Given the description of an element on the screen output the (x, y) to click on. 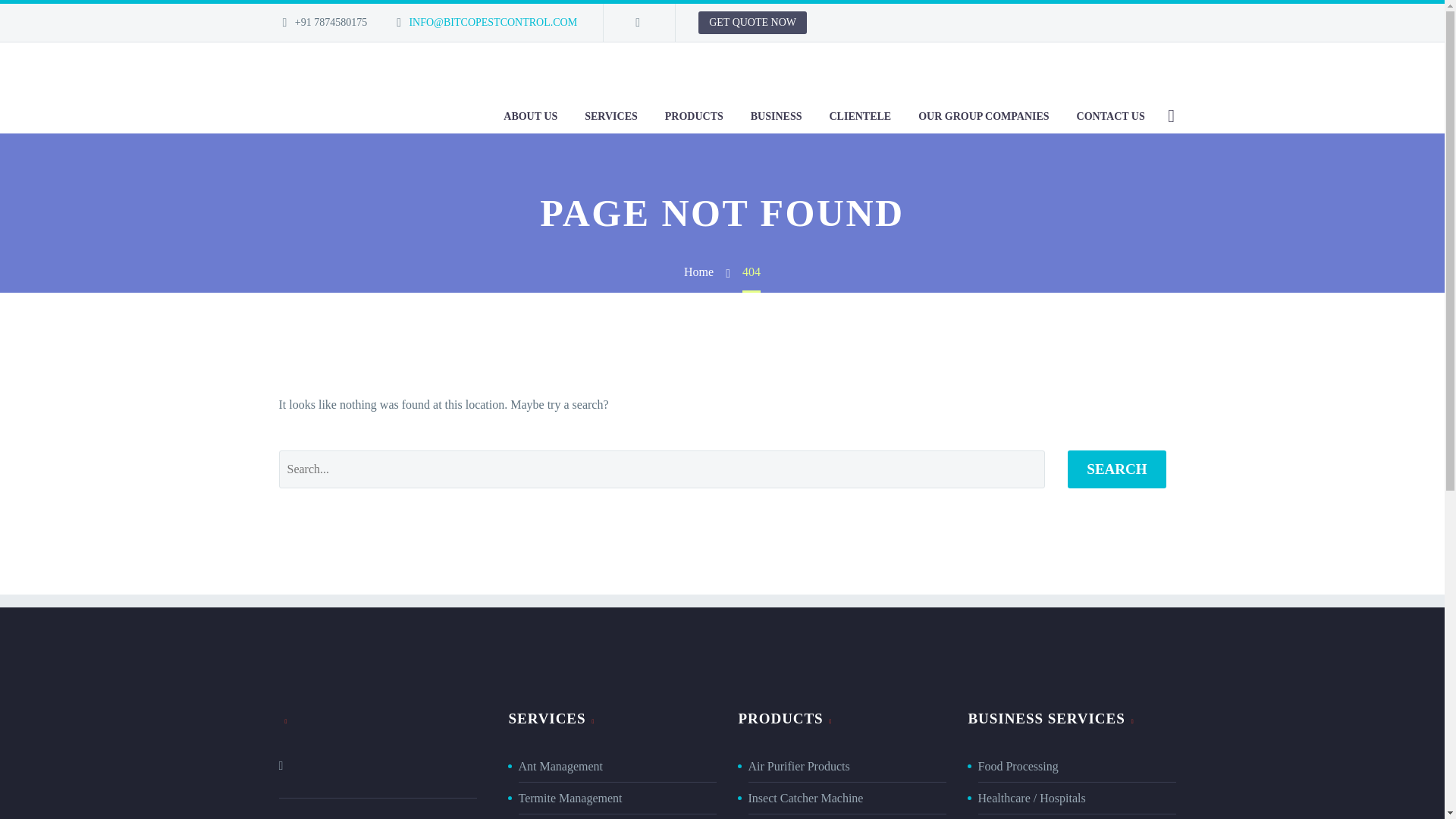
Facebook (637, 22)
ABOUT US (530, 115)
GET QUOTE NOW (752, 22)
SERVICES (611, 115)
PRODUCTS (694, 115)
